Given the description of an element on the screen output the (x, y) to click on. 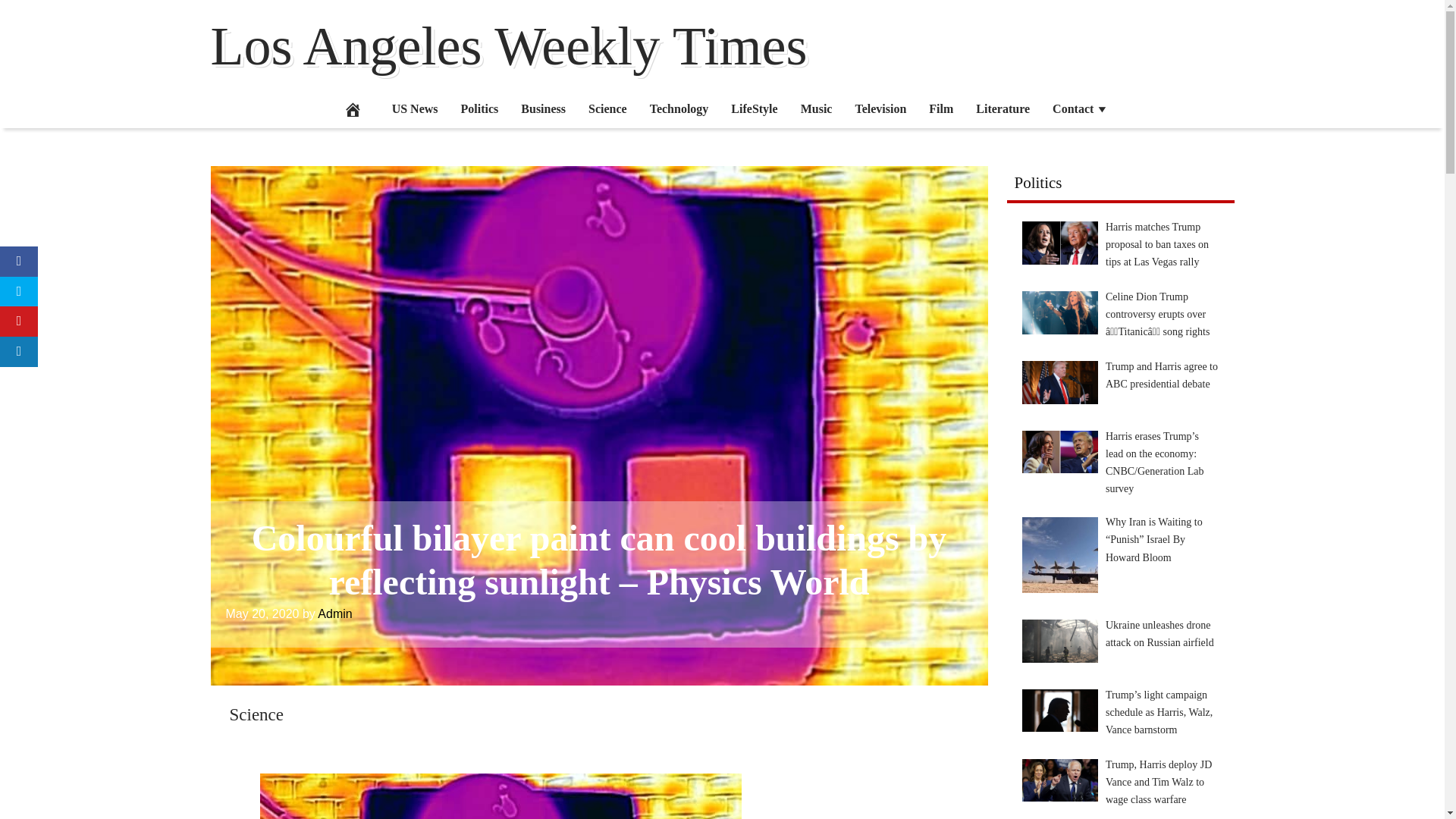
Contact (1080, 108)
Politics (480, 108)
Music (816, 108)
Literature (1002, 108)
Television (880, 108)
Film (940, 108)
Bilayer coating (500, 796)
Los Angeles Weekly Times (509, 45)
